Given the description of an element on the screen output the (x, y) to click on. 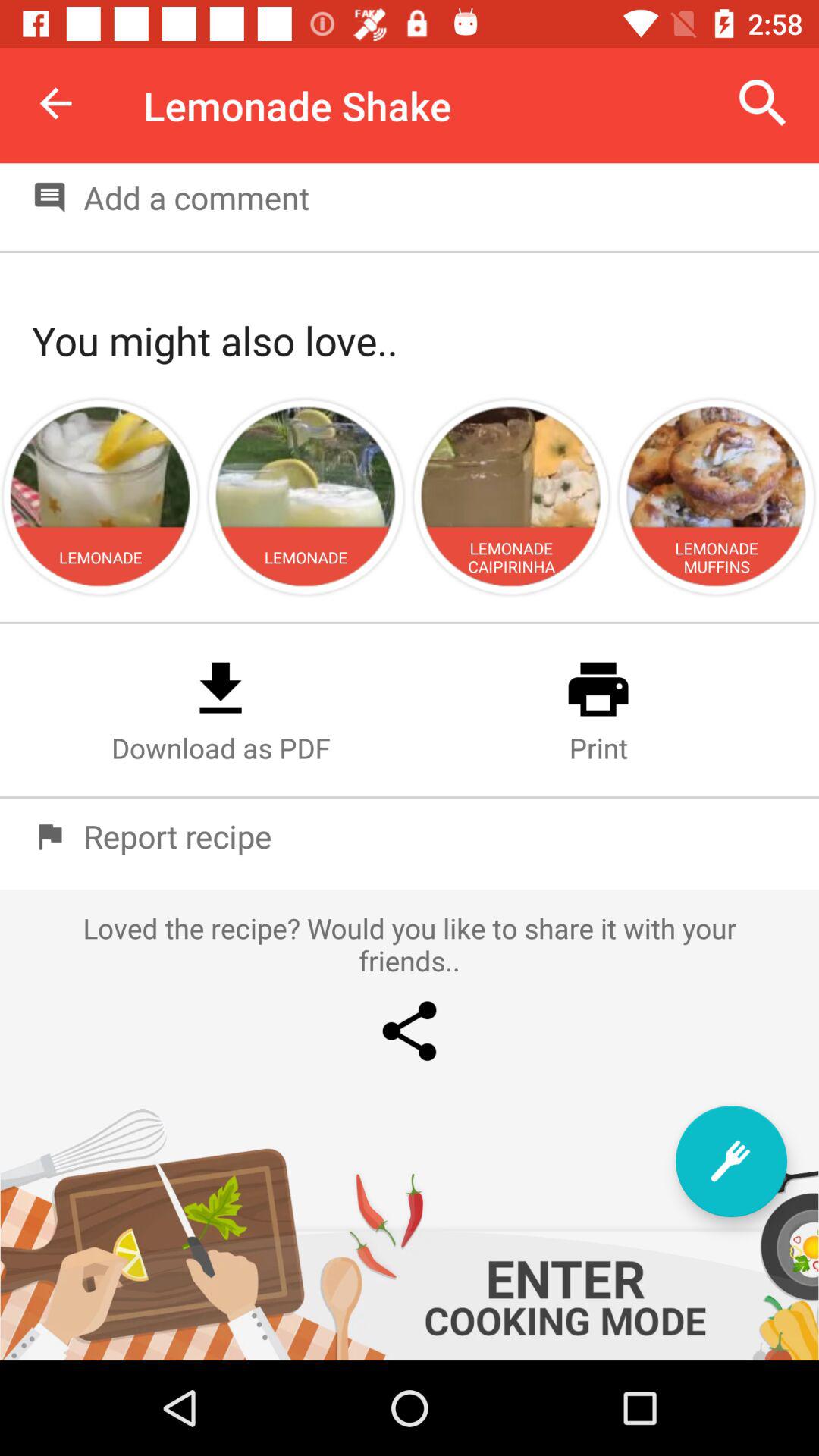
click spoon button (731, 1161)
